Given the description of an element on the screen output the (x, y) to click on. 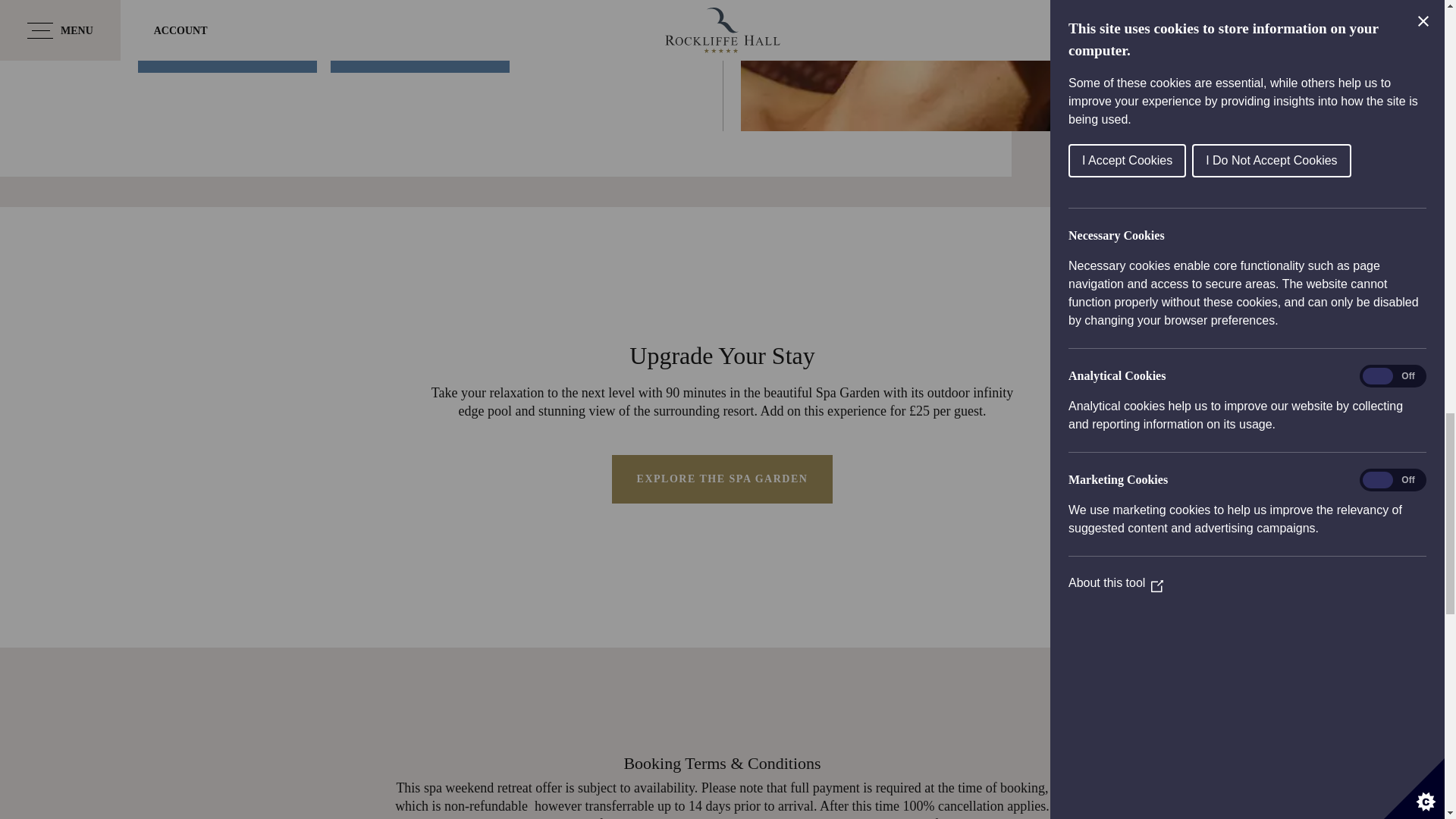
EXPLORE THE SPA GARDEN (721, 479)
BOOK NOW (227, 48)
BOOKING TERMS (419, 48)
